Given the description of an element on the screen output the (x, y) to click on. 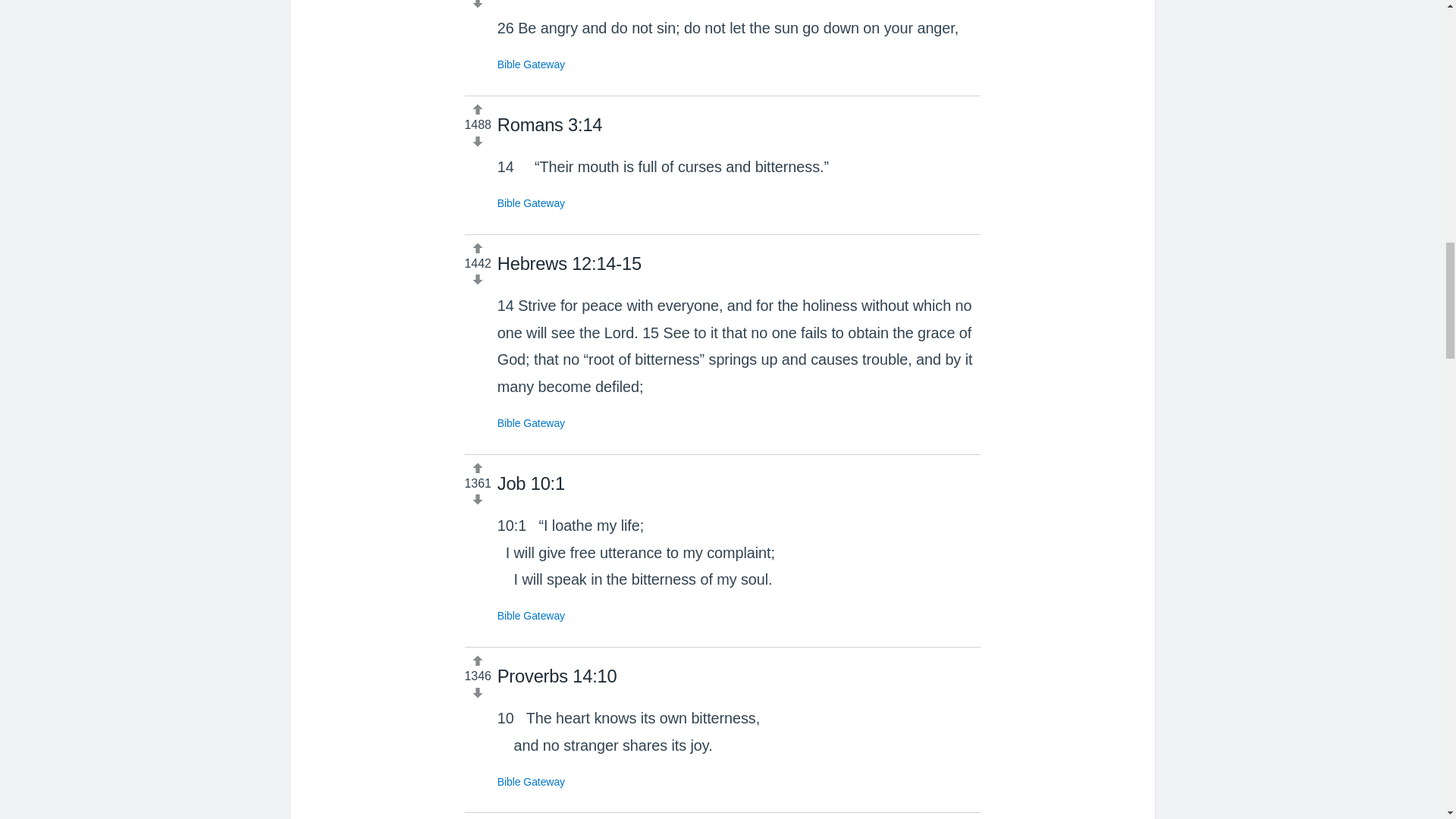
Bible Gateway (530, 781)
Bible Gateway (530, 203)
Bible Gateway (530, 64)
Bible Gateway (530, 615)
Bible Gateway (530, 422)
